Given the description of an element on the screen output the (x, y) to click on. 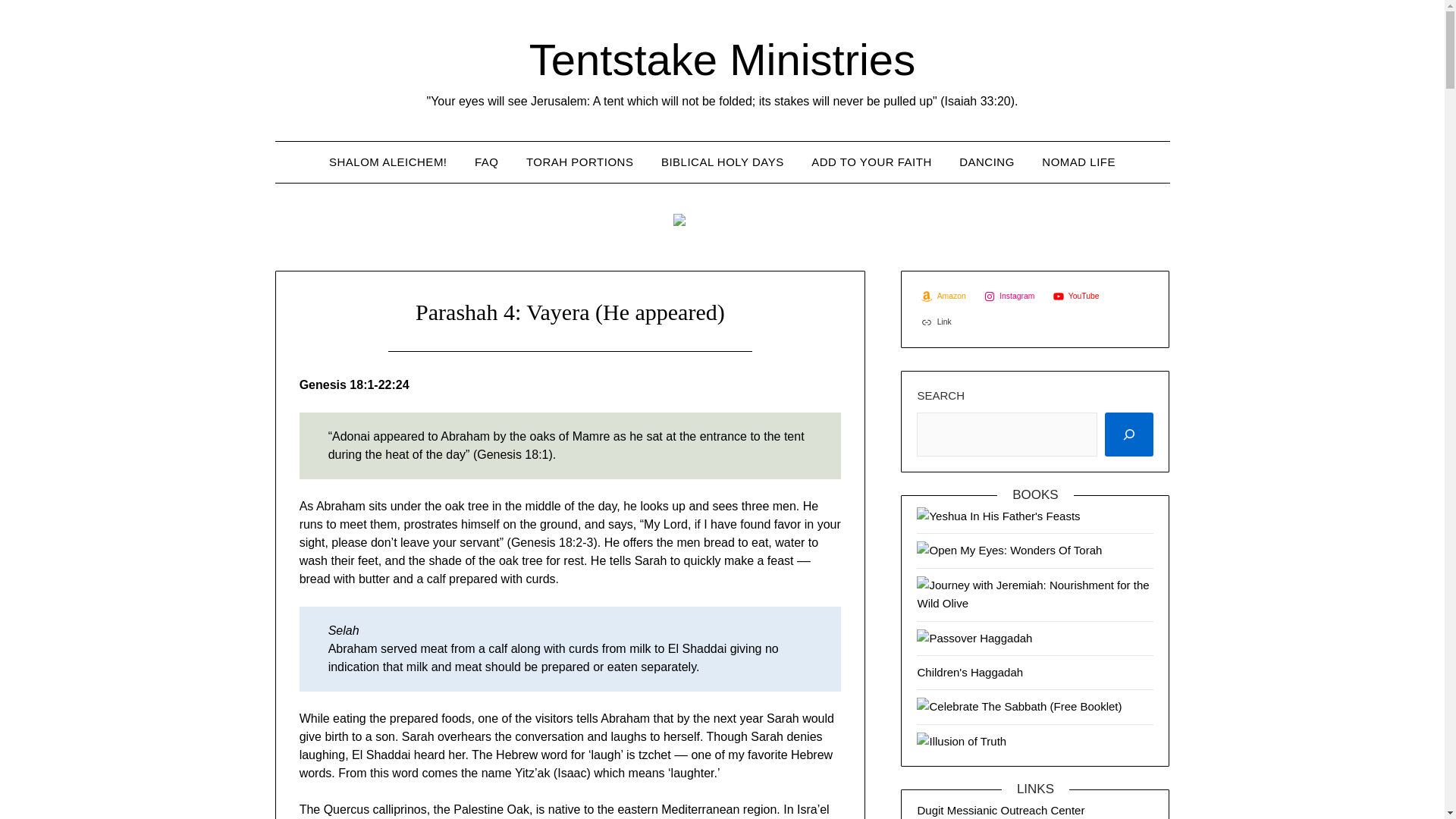
TORAH PORTIONS (579, 161)
FAQ (487, 161)
Tentstake Ministries (722, 59)
ADD TO YOUR FAITH (871, 161)
SHALOM ALEICHEM! (388, 161)
BIBLICAL HOLY DAYS (722, 161)
